Given the description of an element on the screen output the (x, y) to click on. 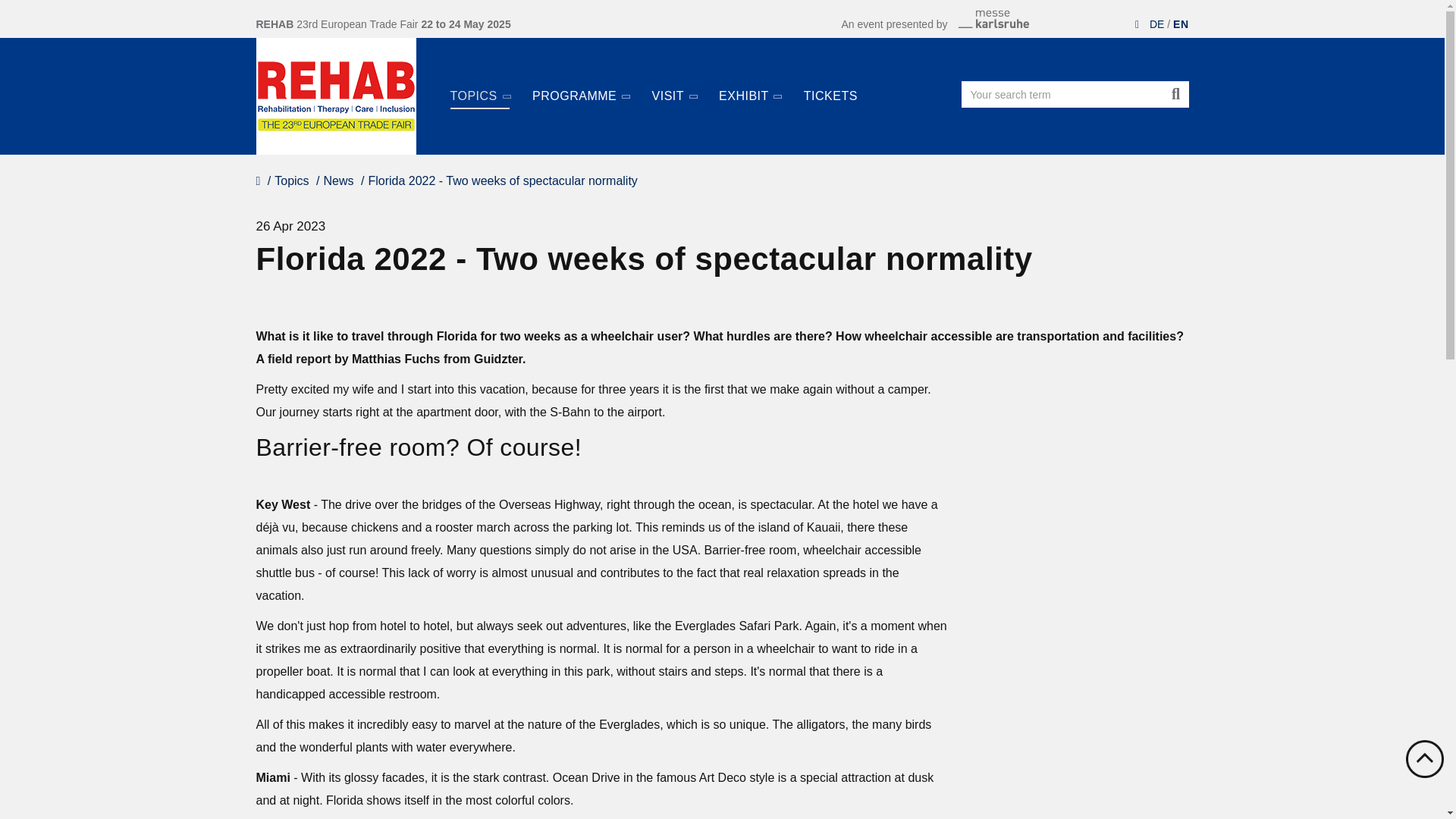
TOPICS (480, 87)
PROGRAMME (580, 87)
EN (1180, 24)
EXHIBIT (749, 87)
Homepage (336, 95)
VISIT (674, 87)
TICKETS (830, 86)
DE (1156, 24)
To Top (1425, 759)
